Given the description of an element on the screen output the (x, y) to click on. 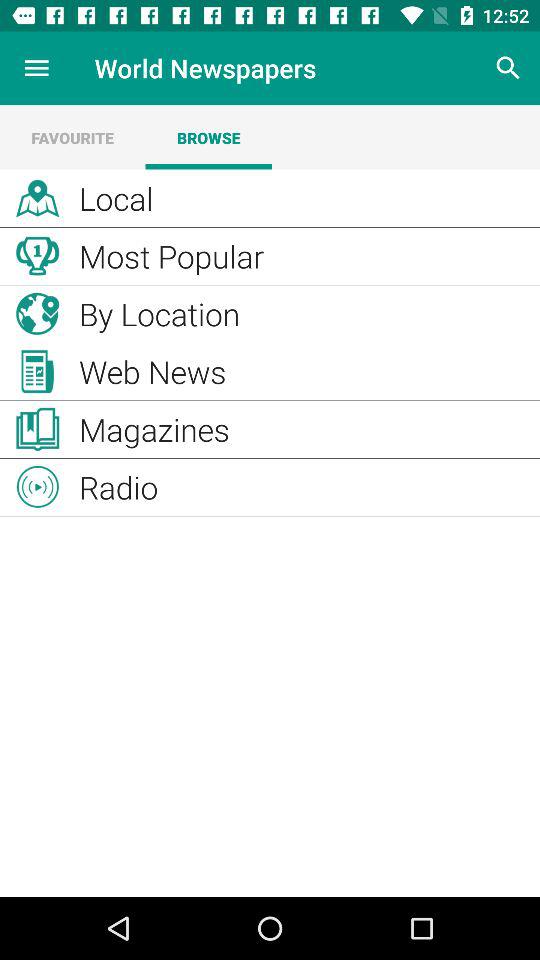
press the icon to the left of world newspapers (36, 68)
